Given the description of an element on the screen output the (x, y) to click on. 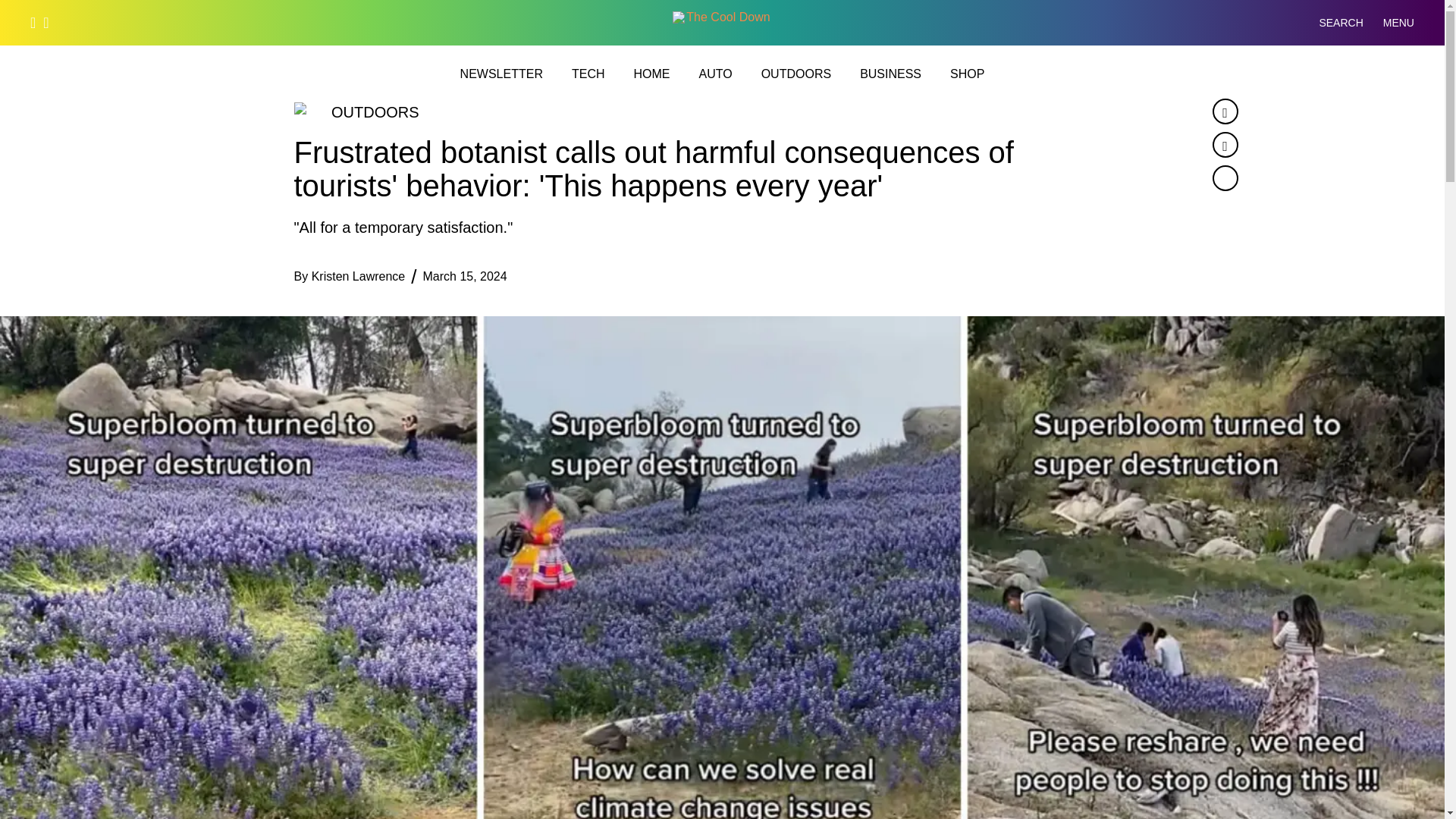
NEWSLETTER (501, 73)
MENU (1398, 22)
BUSINESS (890, 73)
OUTDOORS (796, 73)
Twitter (1224, 144)
FACEBOOK (32, 22)
Facebook (1224, 111)
AUTO (715, 73)
SHOP (967, 73)
HOME (651, 73)
TECH (588, 73)
SEARCH (1328, 22)
INSTAGRAM (45, 22)
